Given the description of an element on the screen output the (x, y) to click on. 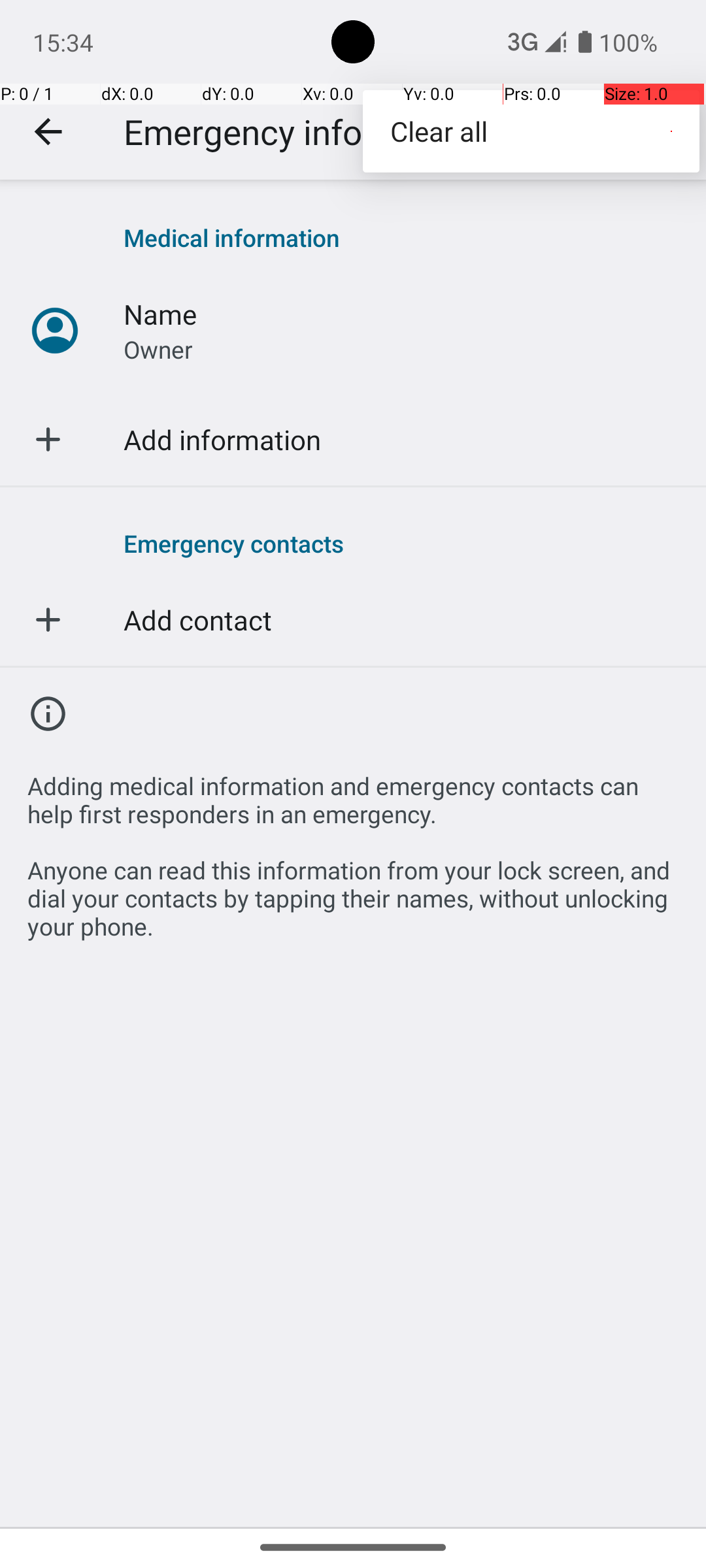
Clear all Element type: android.widget.TextView (531, 130)
